Given the description of an element on the screen output the (x, y) to click on. 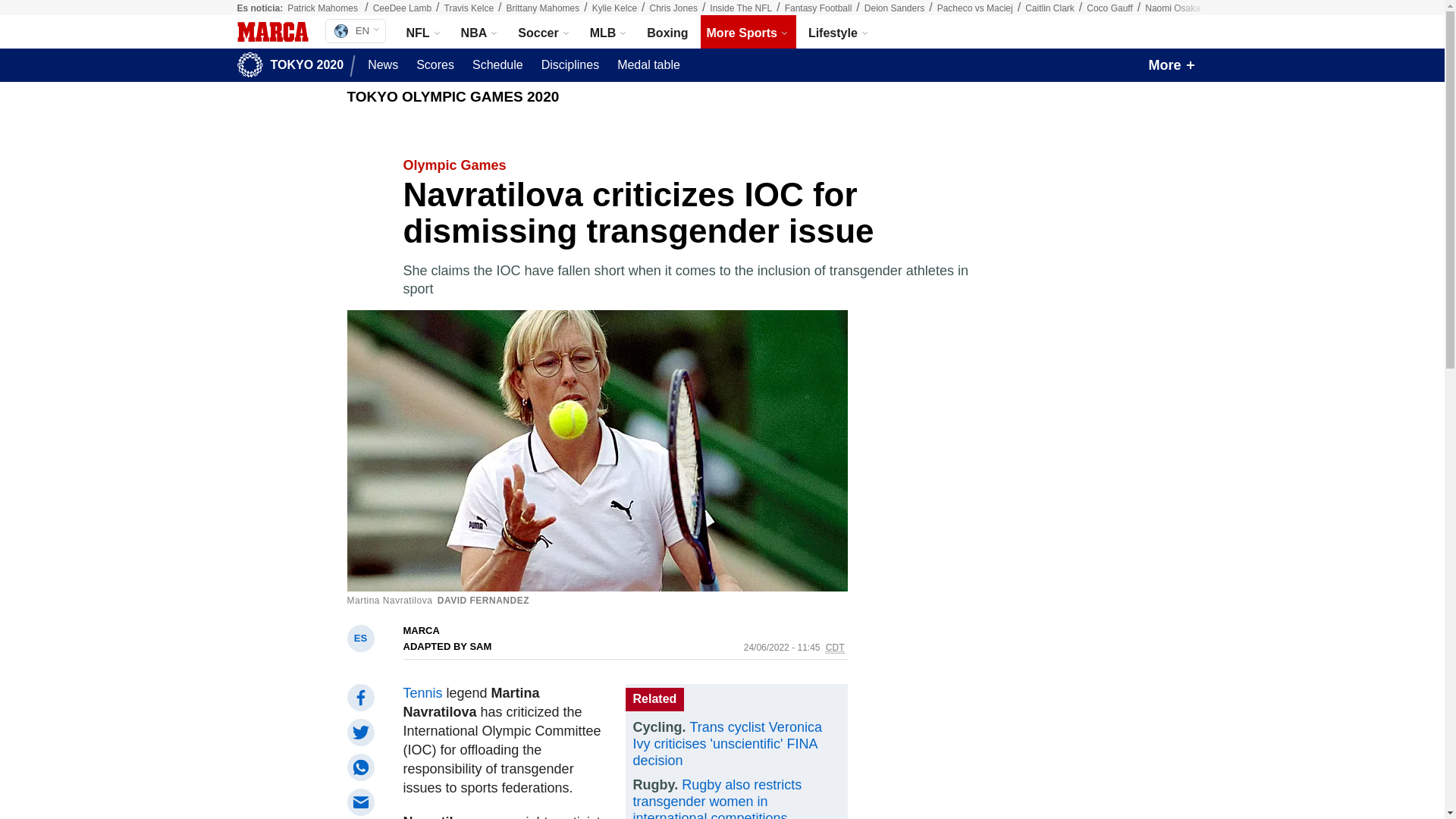
Schedule (497, 64)
Portada de Marca (271, 31)
Inside The NFL (740, 8)
Disciplines (570, 64)
Central Daylight Time (834, 647)
TOKYO 2020 (292, 64)
Soccer (544, 31)
Medal table (648, 64)
Brittany Mahomes (542, 8)
Chris Jones (673, 8)
